Given the description of an element on the screen output the (x, y) to click on. 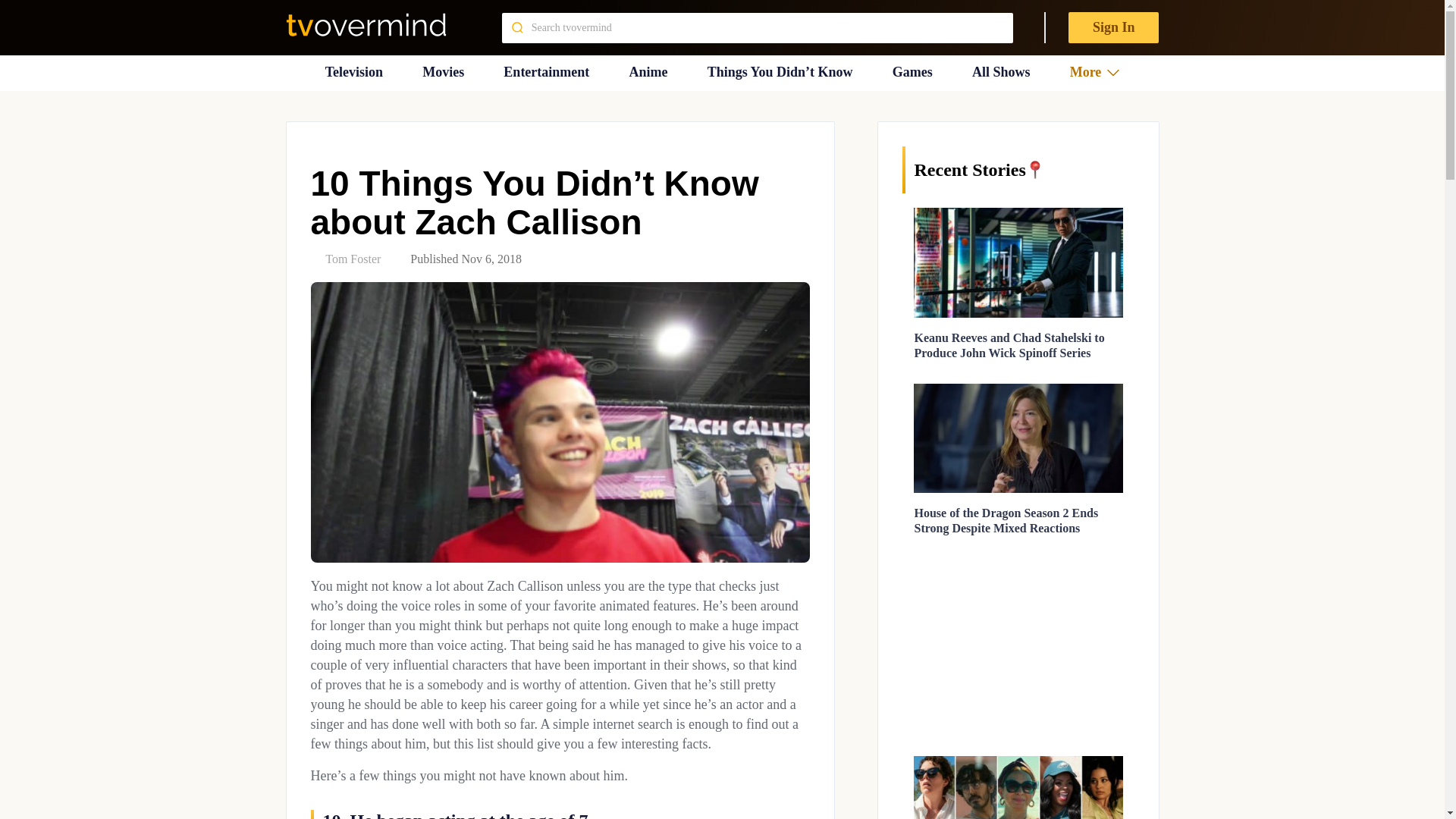
All Shows (1001, 72)
Entertainment (546, 72)
Anime (648, 72)
Sign In (1113, 27)
Games (912, 72)
Posts by Tom Foster (352, 258)
TV News (353, 72)
Television (353, 72)
Movies (443, 72)
More (1094, 72)
